Given the description of an element on the screen output the (x, y) to click on. 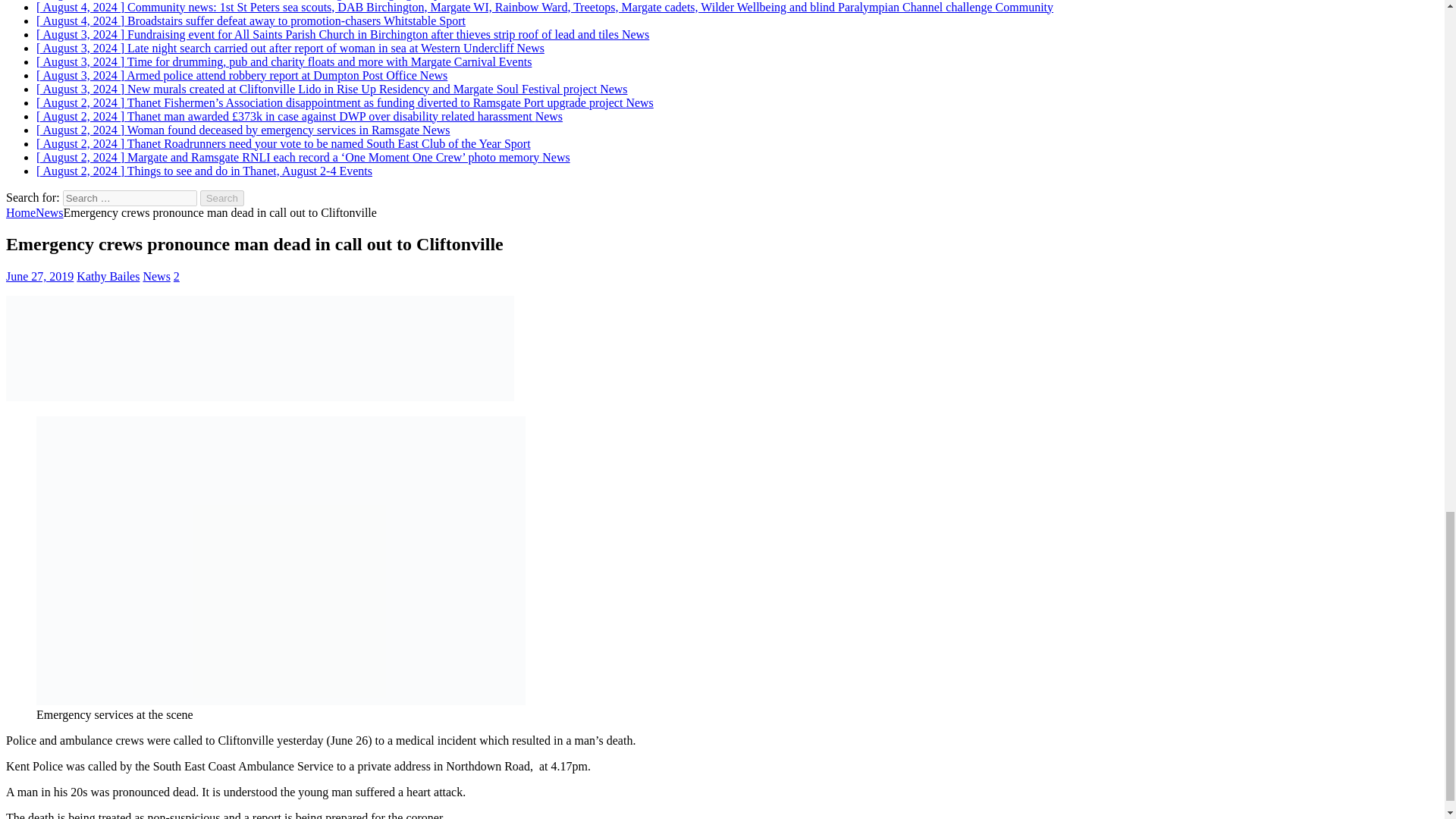
Search (222, 198)
Armed police attend robbery report at Dumpton Post Office (241, 74)
Woman found deceased by emergency services in Ramsgate (242, 129)
Search (222, 198)
2 (176, 276)
